Given the description of an element on the screen output the (x, y) to click on. 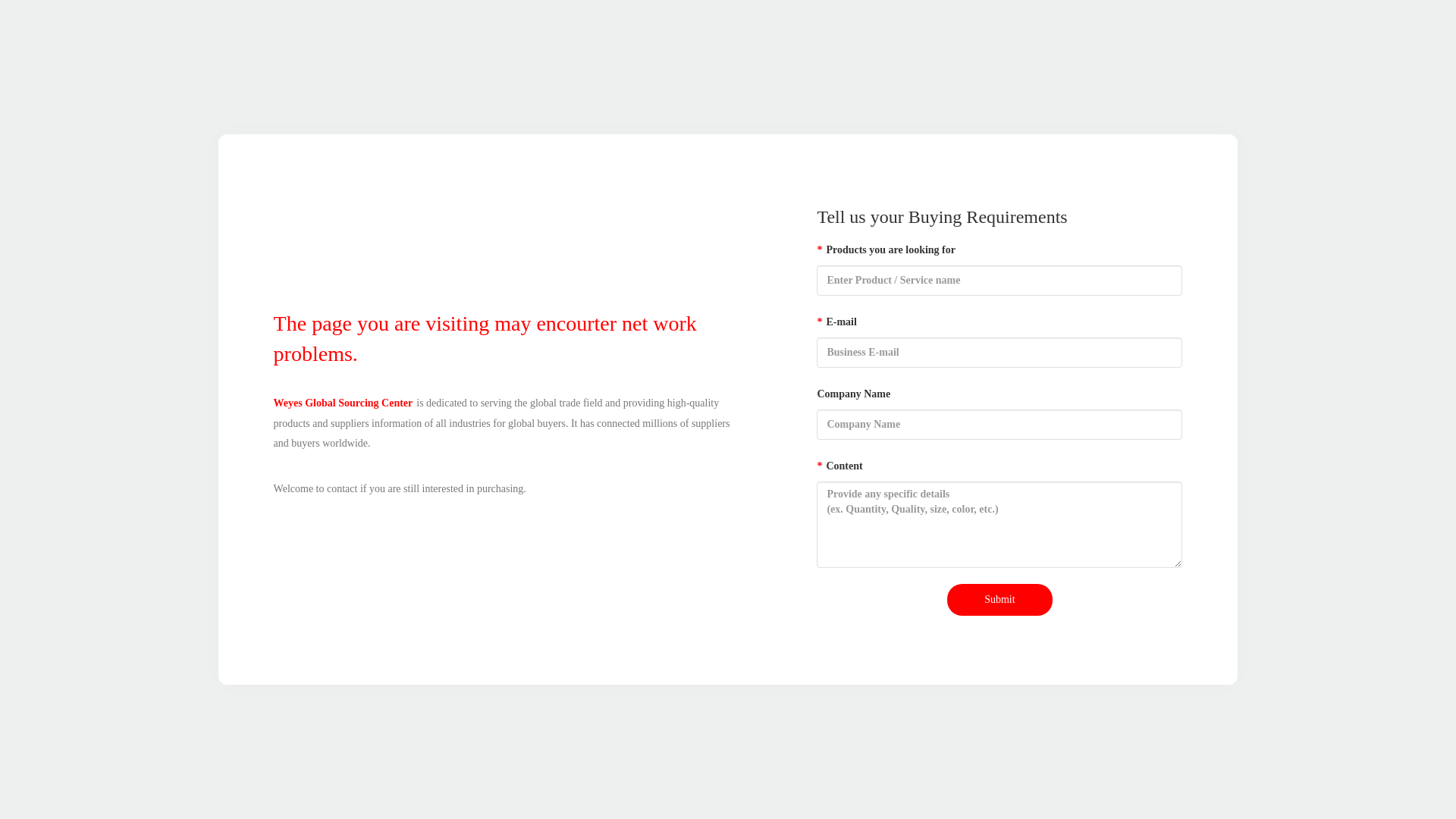
Submit (999, 599)
